Given the description of an element on the screen output the (x, y) to click on. 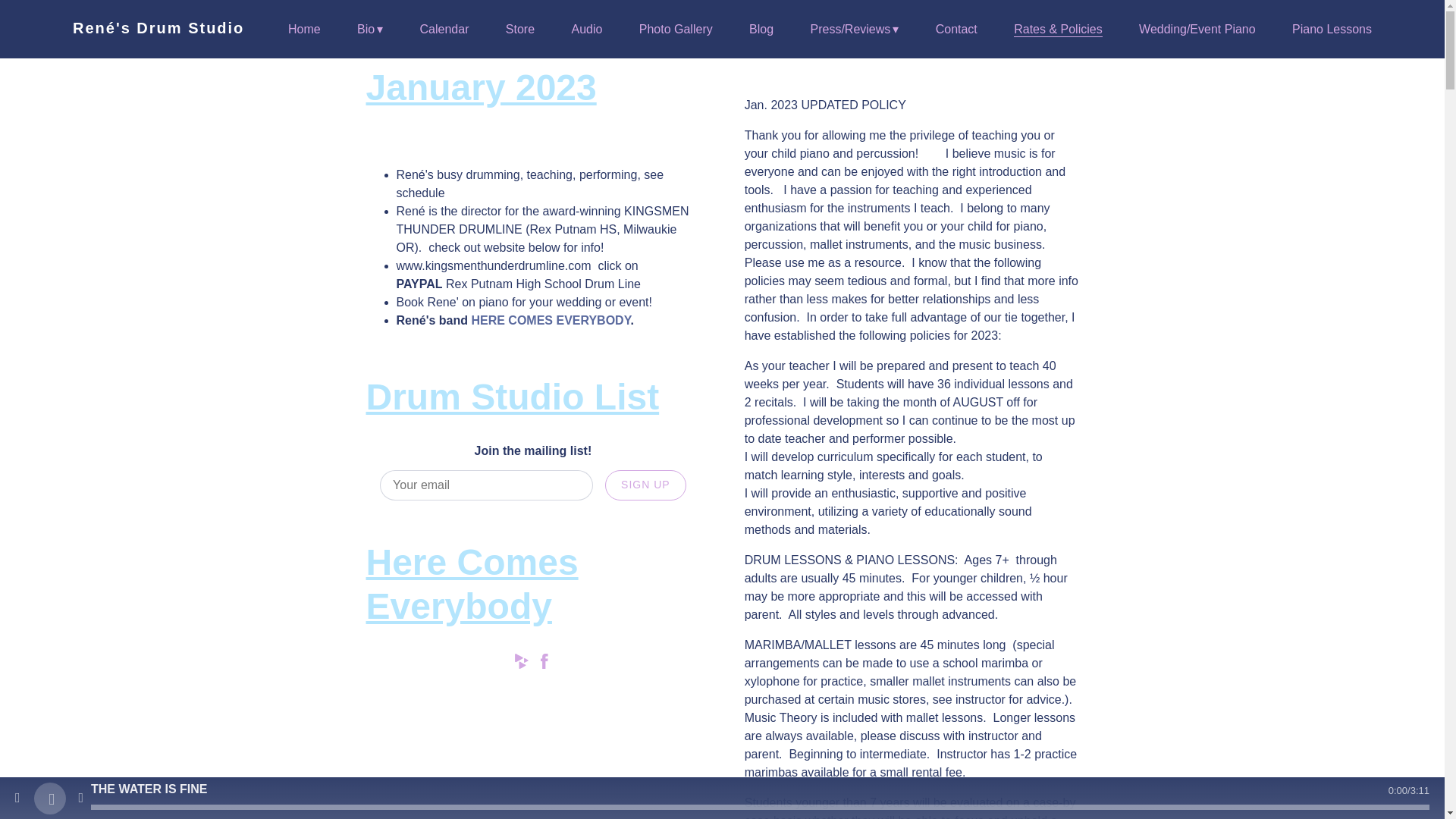
Contact (956, 29)
Home (304, 29)
Piano Lessons (1331, 29)
Bio (369, 29)
Here Comes Everybody (550, 319)
Audio (586, 29)
Photo Gallery (676, 29)
Calendar (444, 29)
HERE COMES EVERYBODY (550, 319)
Store (519, 29)
Blog (761, 29)
SIGN UP (645, 485)
